Given the description of an element on the screen output the (x, y) to click on. 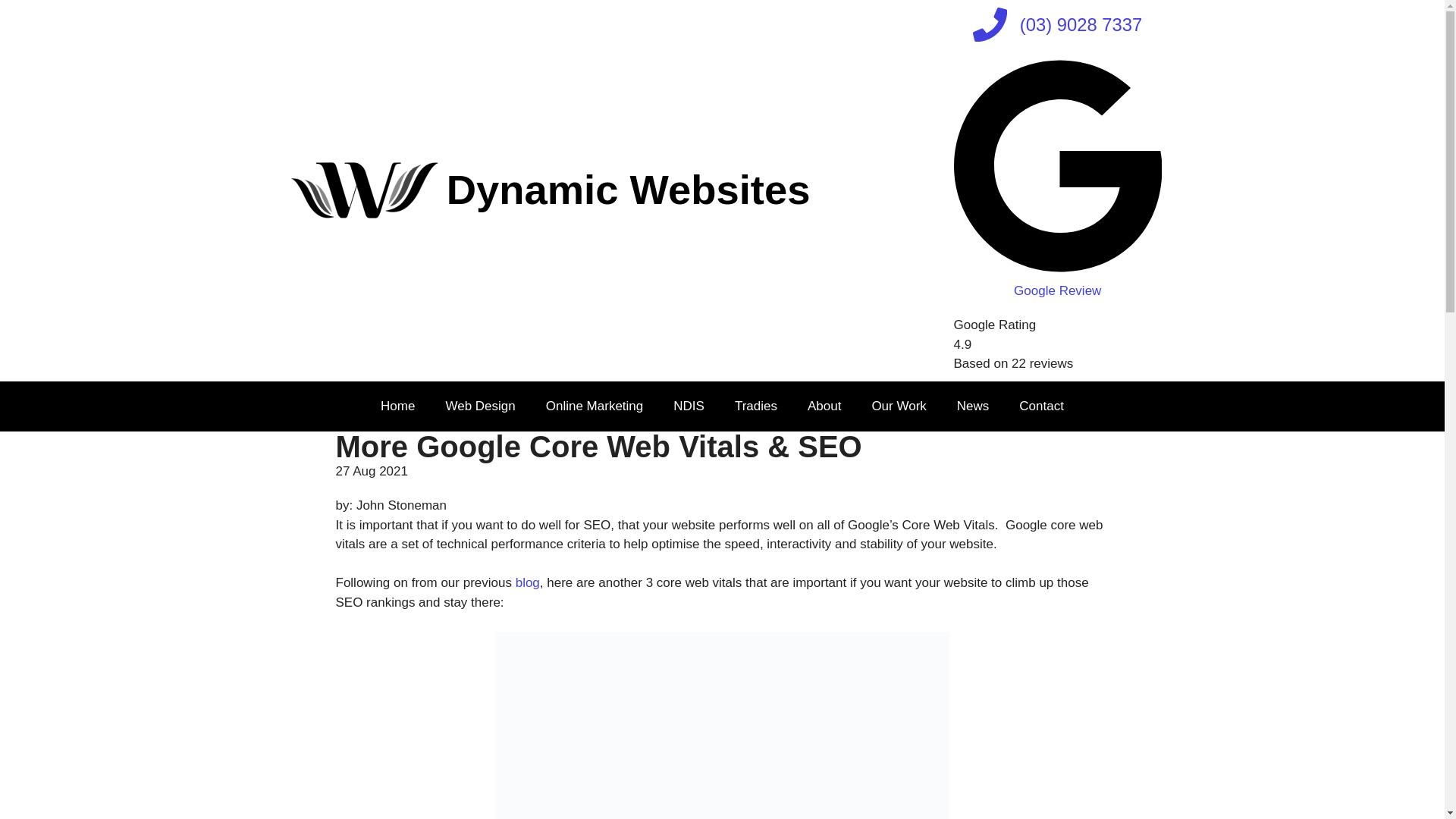
Dynamic Websites (628, 189)
Home (397, 406)
Google Review (1057, 280)
Online Marketing (595, 406)
Web Design (479, 406)
